Given the description of an element on the screen output the (x, y) to click on. 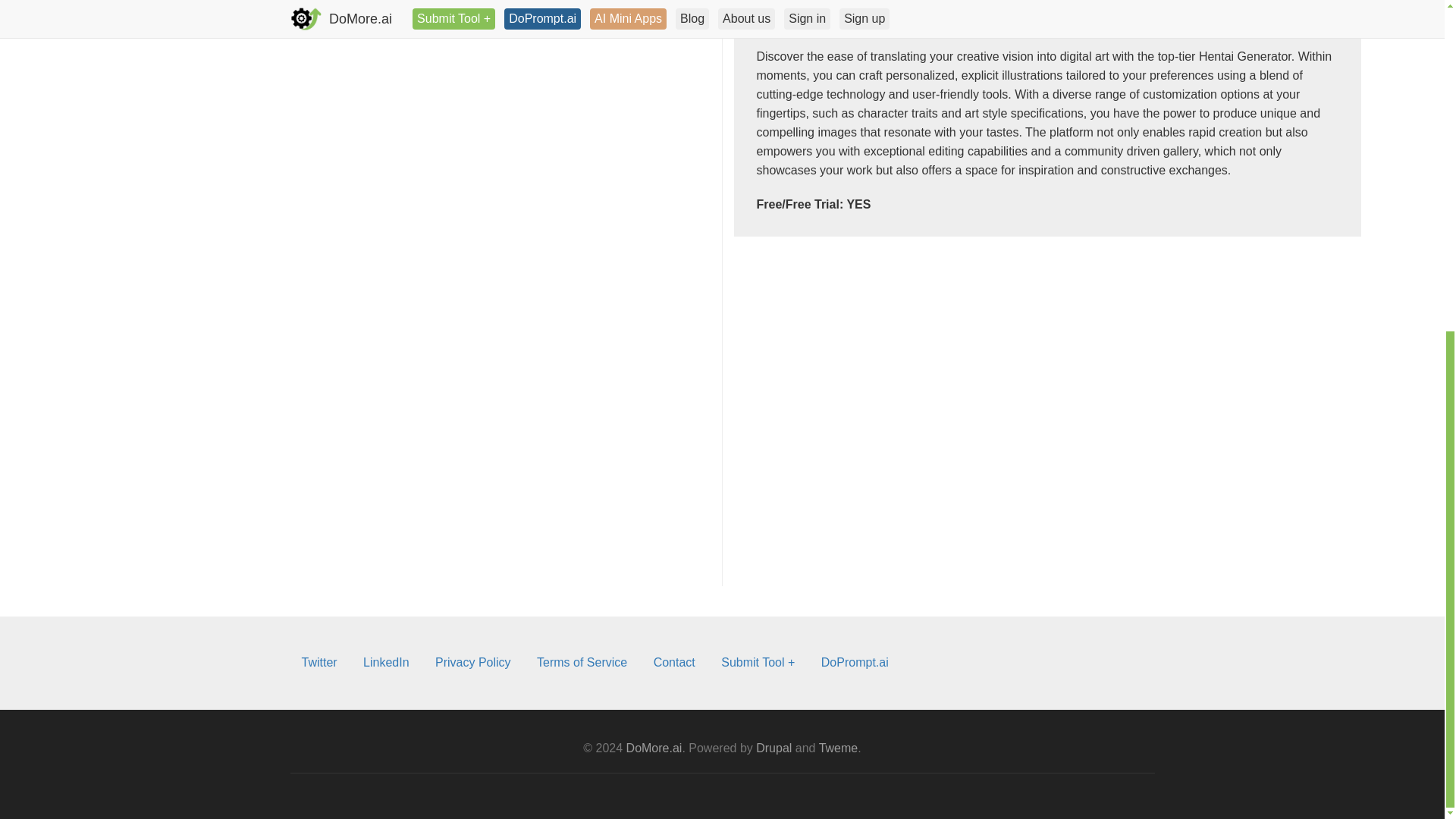
DoMore.ai (654, 748)
LinkedIn (386, 663)
DoPrompt.ai (854, 663)
Twitter (318, 663)
Contact (674, 663)
Privacy Policy (472, 663)
Terms of Service (582, 663)
